Given the description of an element on the screen output the (x, y) to click on. 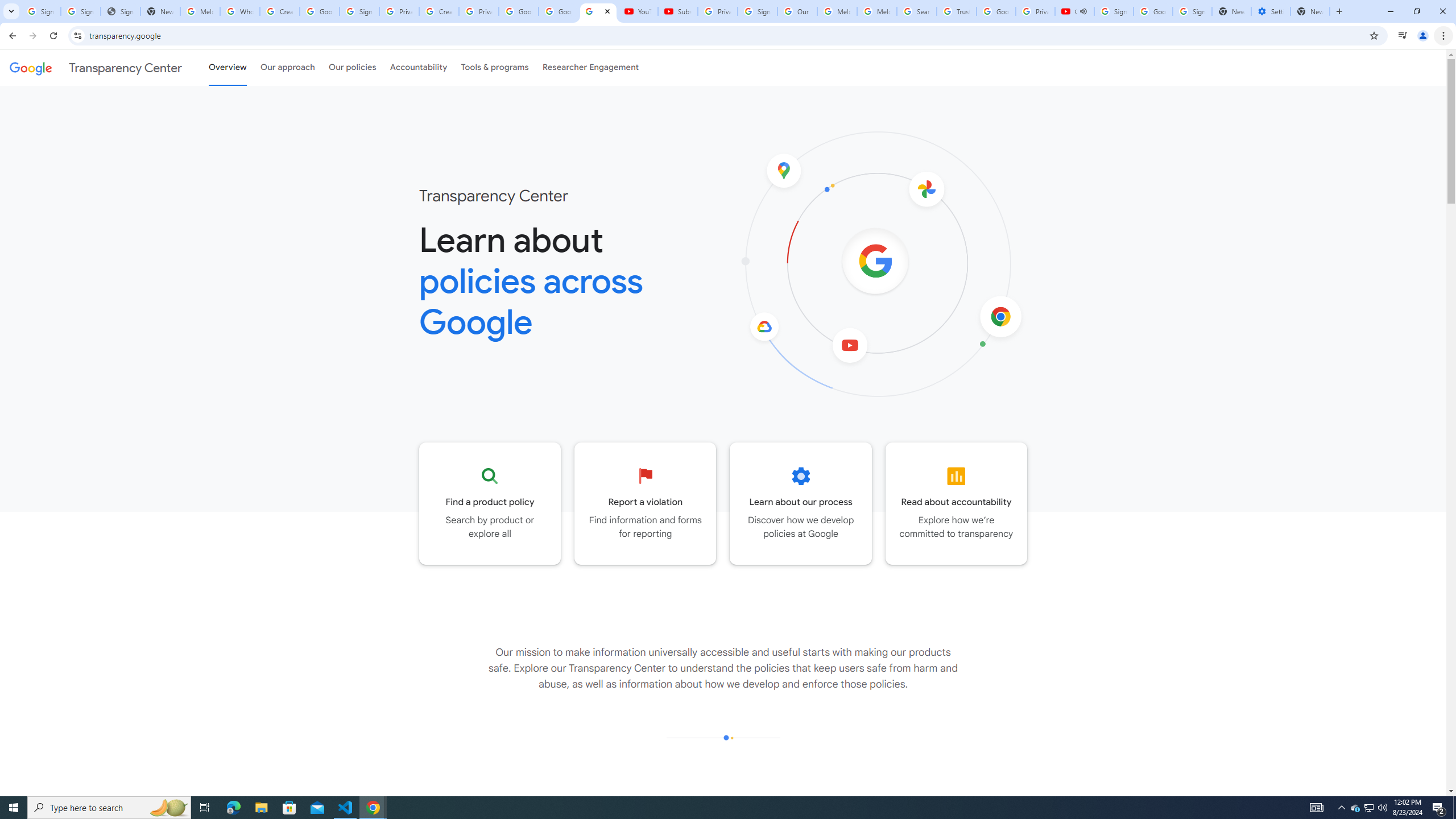
Go to the Reporting and appeals page (645, 503)
Sign In - USA TODAY (120, 11)
Control your music, videos, and more (1402, 35)
Mute tab (1082, 10)
Create your Google Account (438, 11)
Who is my administrator? - Google Account Help (239, 11)
Our approach (287, 67)
Google Cybersecurity Innovations - Google Safety Center (1152, 11)
Sign in - Google Accounts (40, 11)
